Given the description of an element on the screen output the (x, y) to click on. 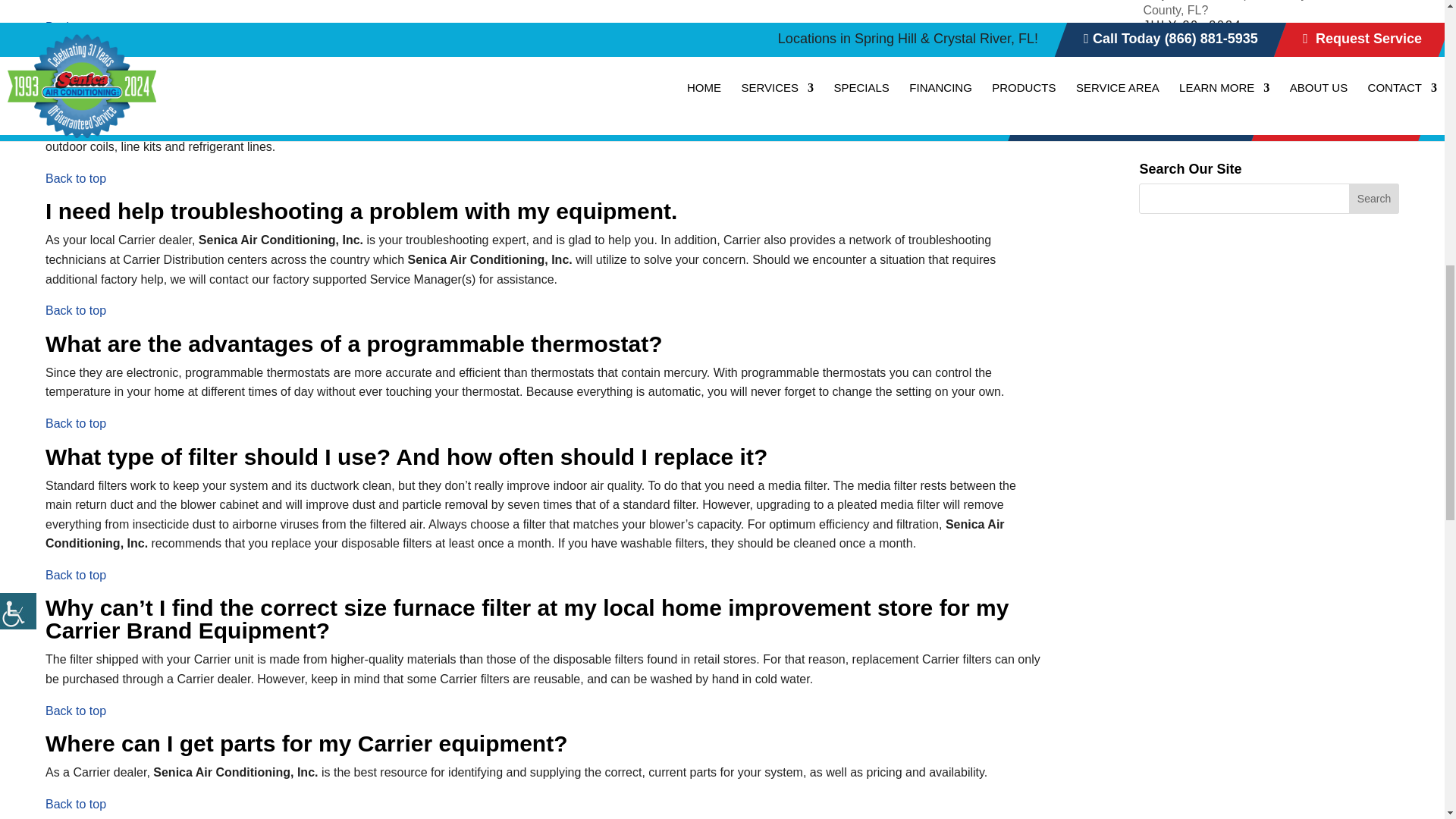
Search (1374, 198)
